Given the description of an element on the screen output the (x, y) to click on. 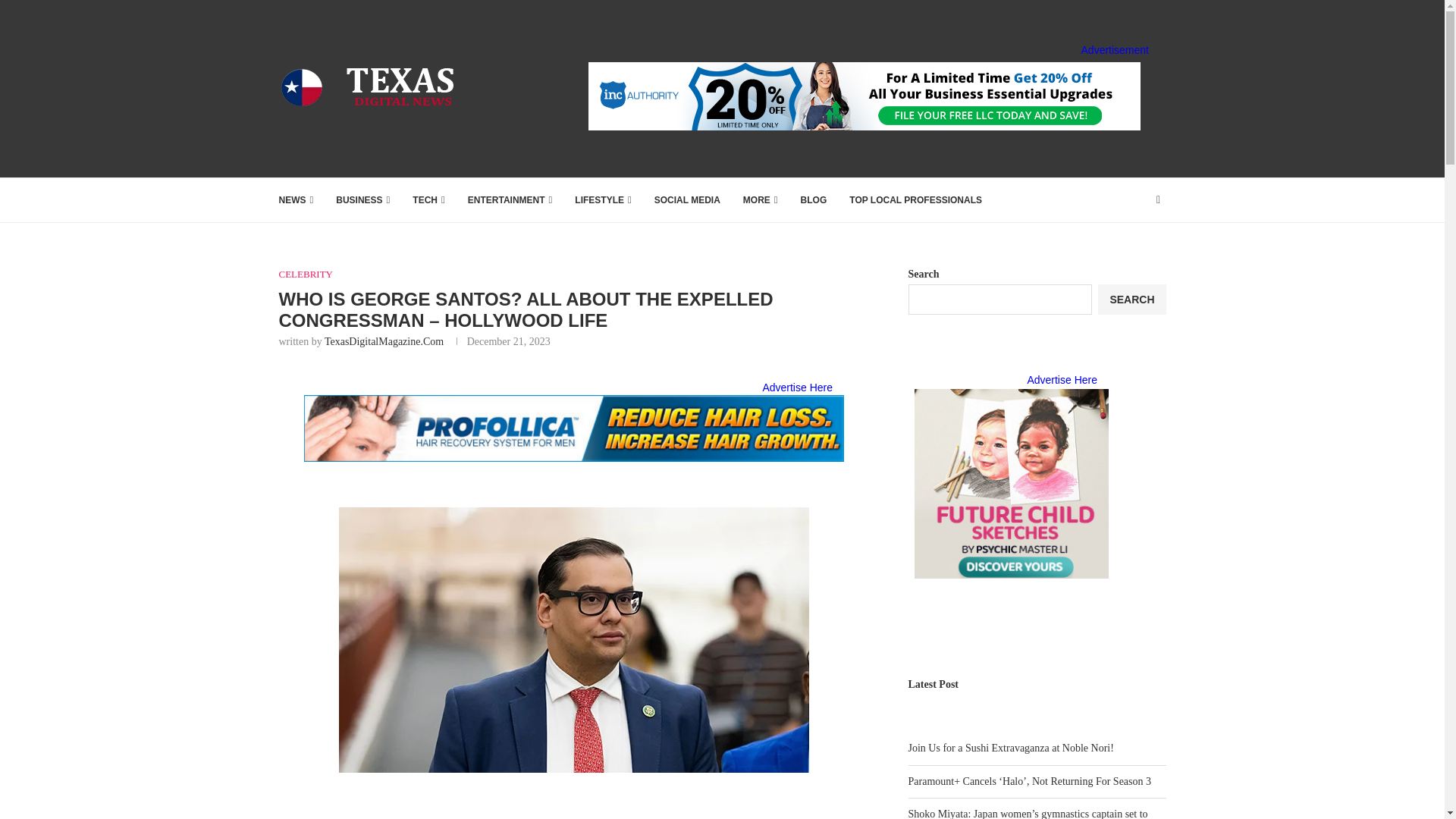
BUSINESS (363, 199)
who-is-george-santos-ftr.jpg (574, 639)
LIFESTYLE (602, 199)
CELEBRITY (306, 274)
ENTERTAINMENT (510, 199)
SOCIAL MEDIA (686, 199)
TOP LOCAL PROFESSIONALS (914, 199)
